Given the description of an element on the screen output the (x, y) to click on. 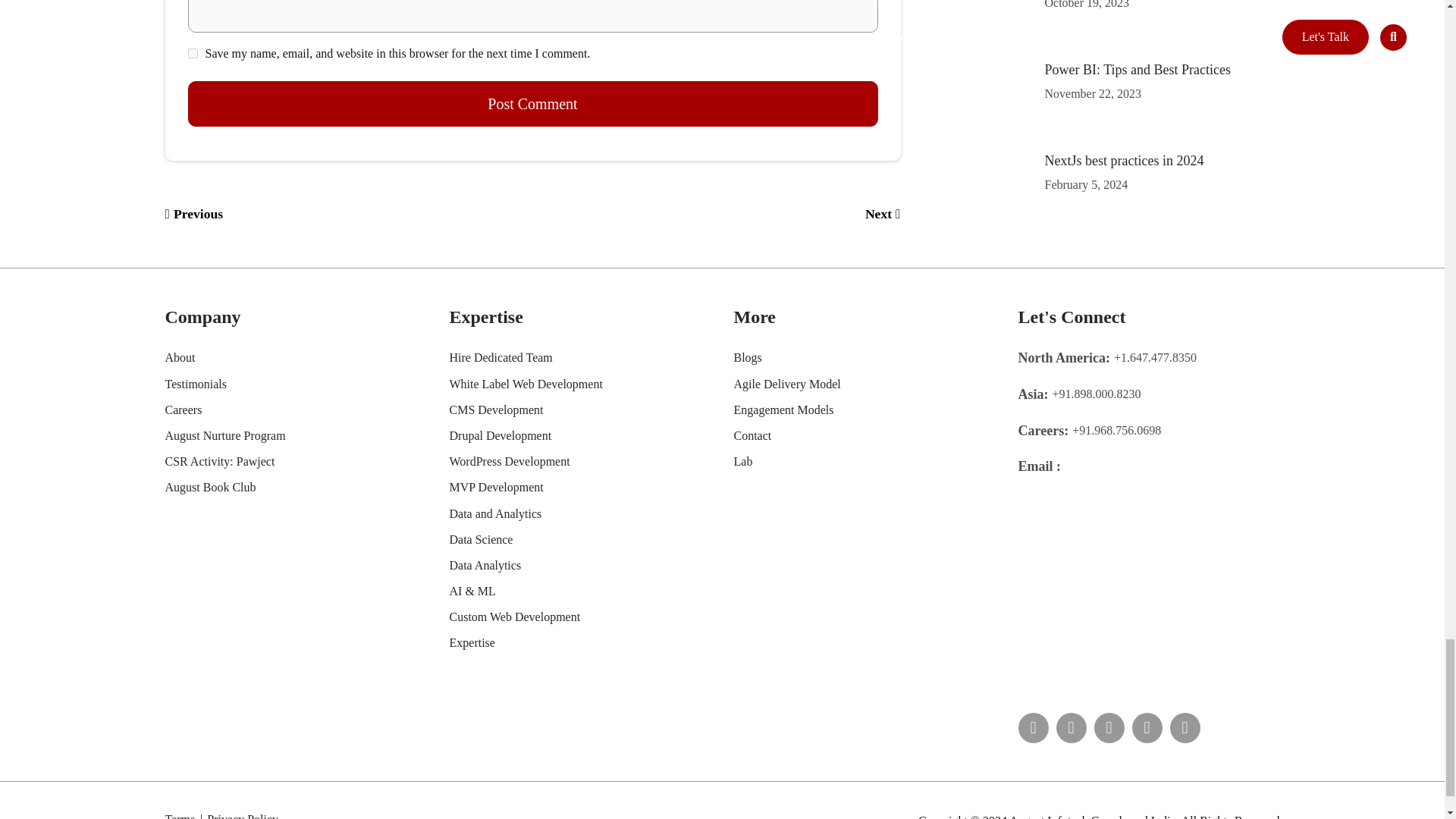
Next (882, 213)
Previous (194, 213)
Post Comment (532, 103)
About (180, 357)
Post Comment (532, 103)
August Nurture Program (225, 435)
Testimonials (196, 383)
Careers (183, 409)
yes (192, 53)
August Book Club (210, 486)
